Given the description of an element on the screen output the (x, y) to click on. 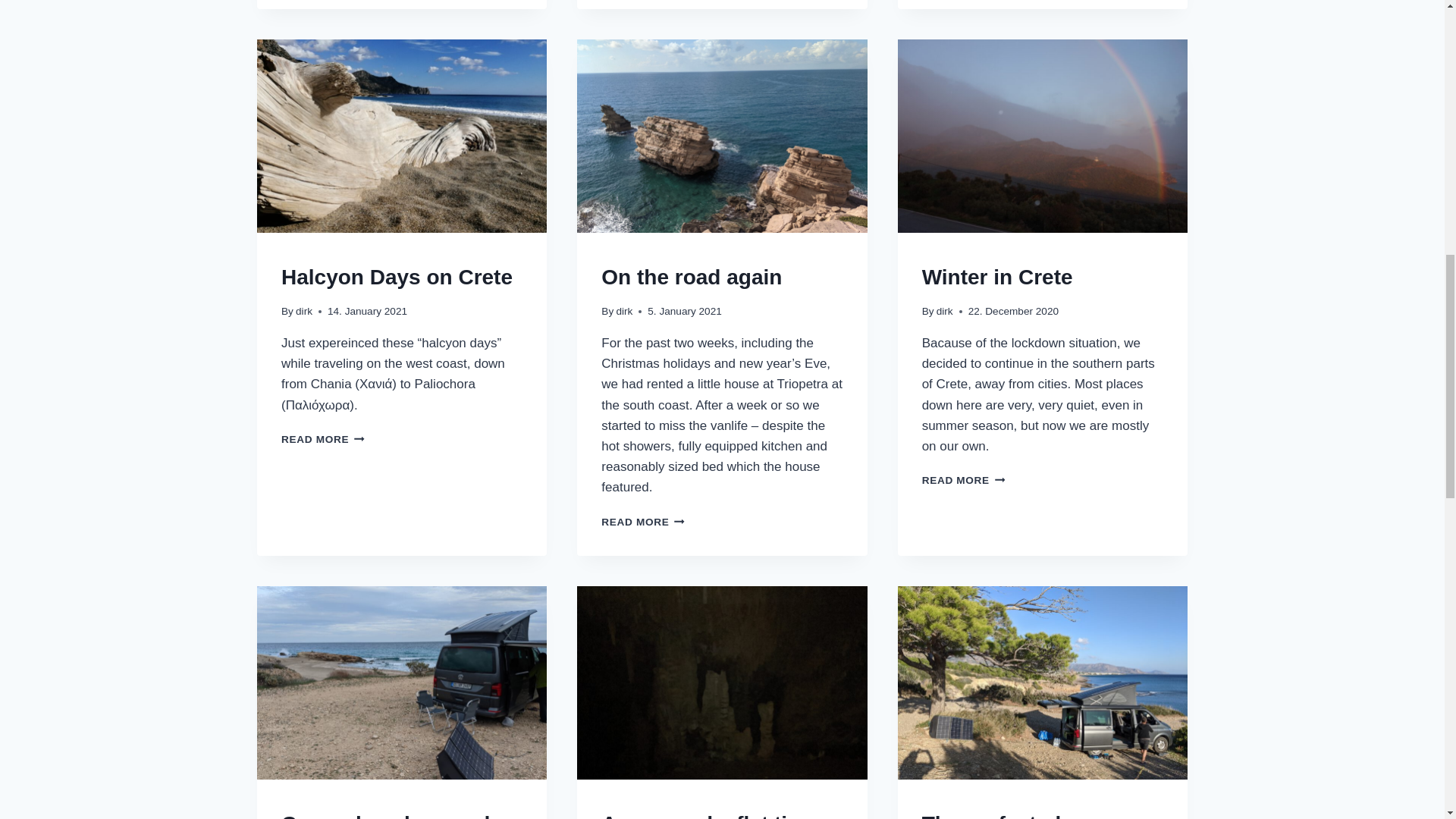
dirk (323, 439)
Halcyon Days on Crete (304, 310)
